Given the description of an element on the screen output the (x, y) to click on. 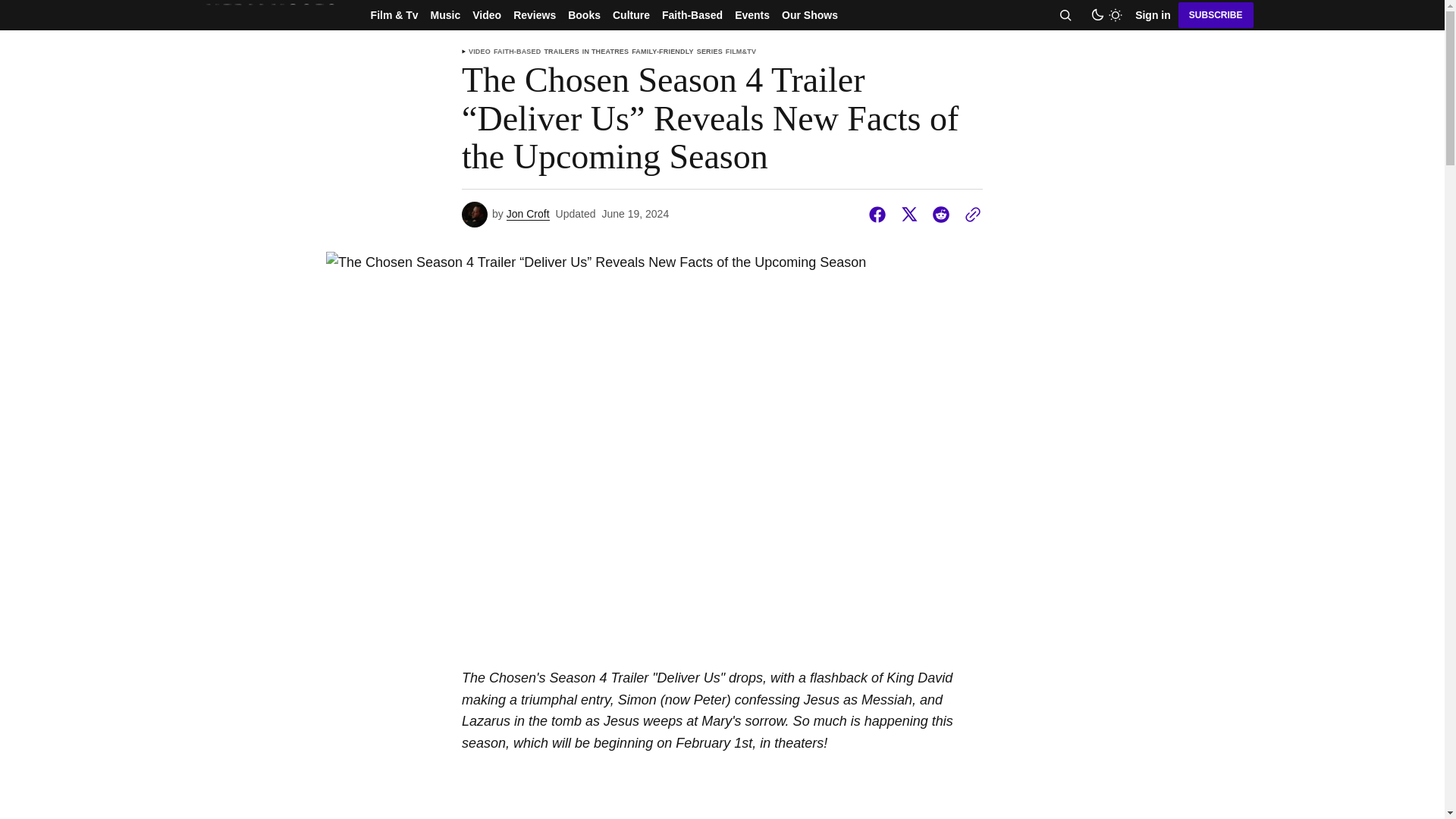
Books (584, 15)
Search button (1064, 15)
The Chosen: Season 4 "Deliver Us" Trailer (721, 807)
Video (485, 15)
Music (446, 15)
Culture (631, 15)
Reviews (534, 15)
Faith-Based (692, 15)
